Given the description of an element on the screen output the (x, y) to click on. 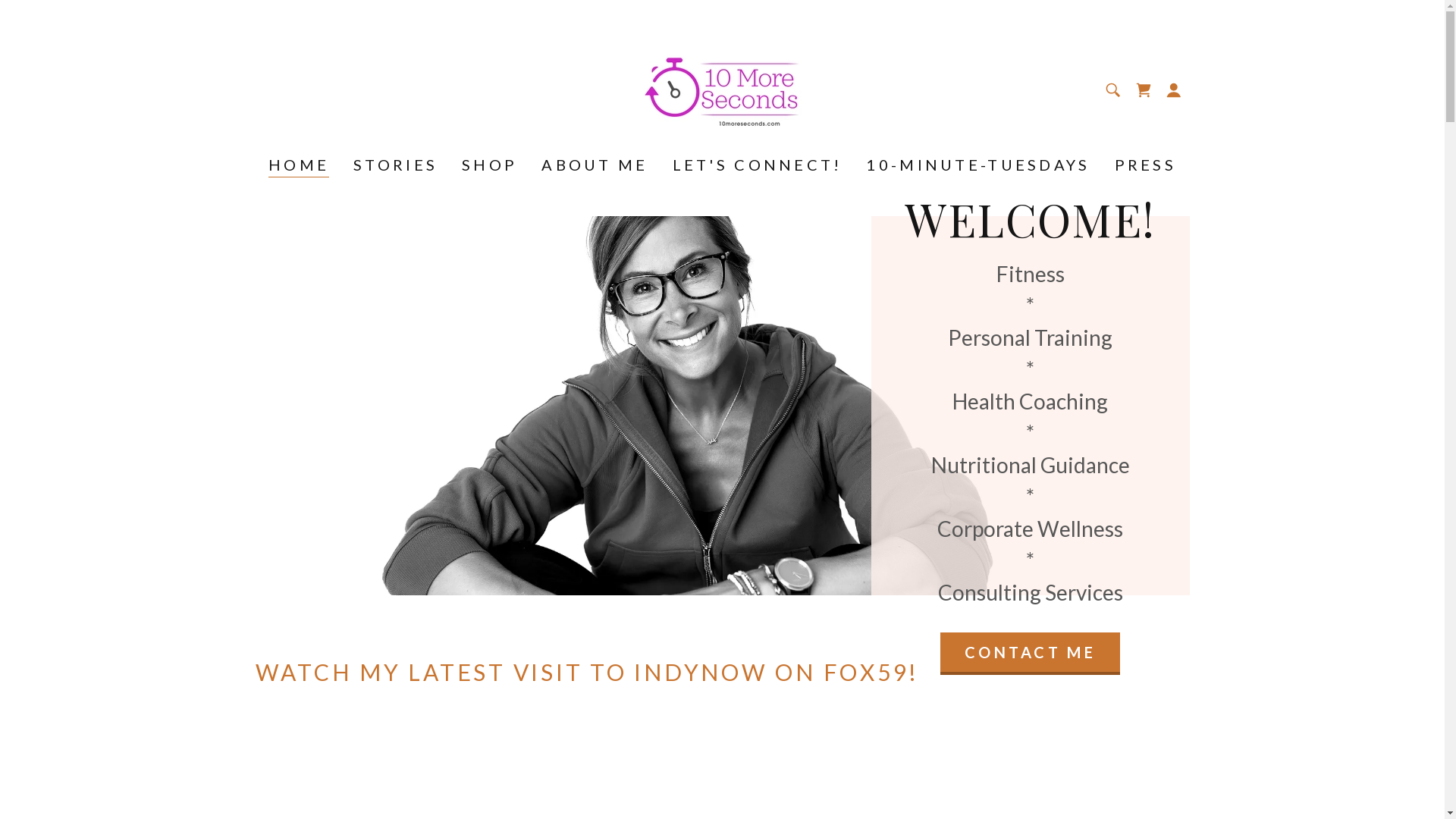
10-MINUTE-TUESDAYS Element type: text (977, 164)
HOME Element type: text (298, 166)
LET'S CONNECT! Element type: text (757, 164)
CONTACT ME Element type: text (1030, 653)
PRESS Element type: text (1145, 164)
10MoreSeconds


 Element type: hover (721, 86)
STORIES Element type: text (395, 164)
SHOP Element type: text (489, 164)
ABOUT ME Element type: text (594, 164)
